Given the description of an element on the screen output the (x, y) to click on. 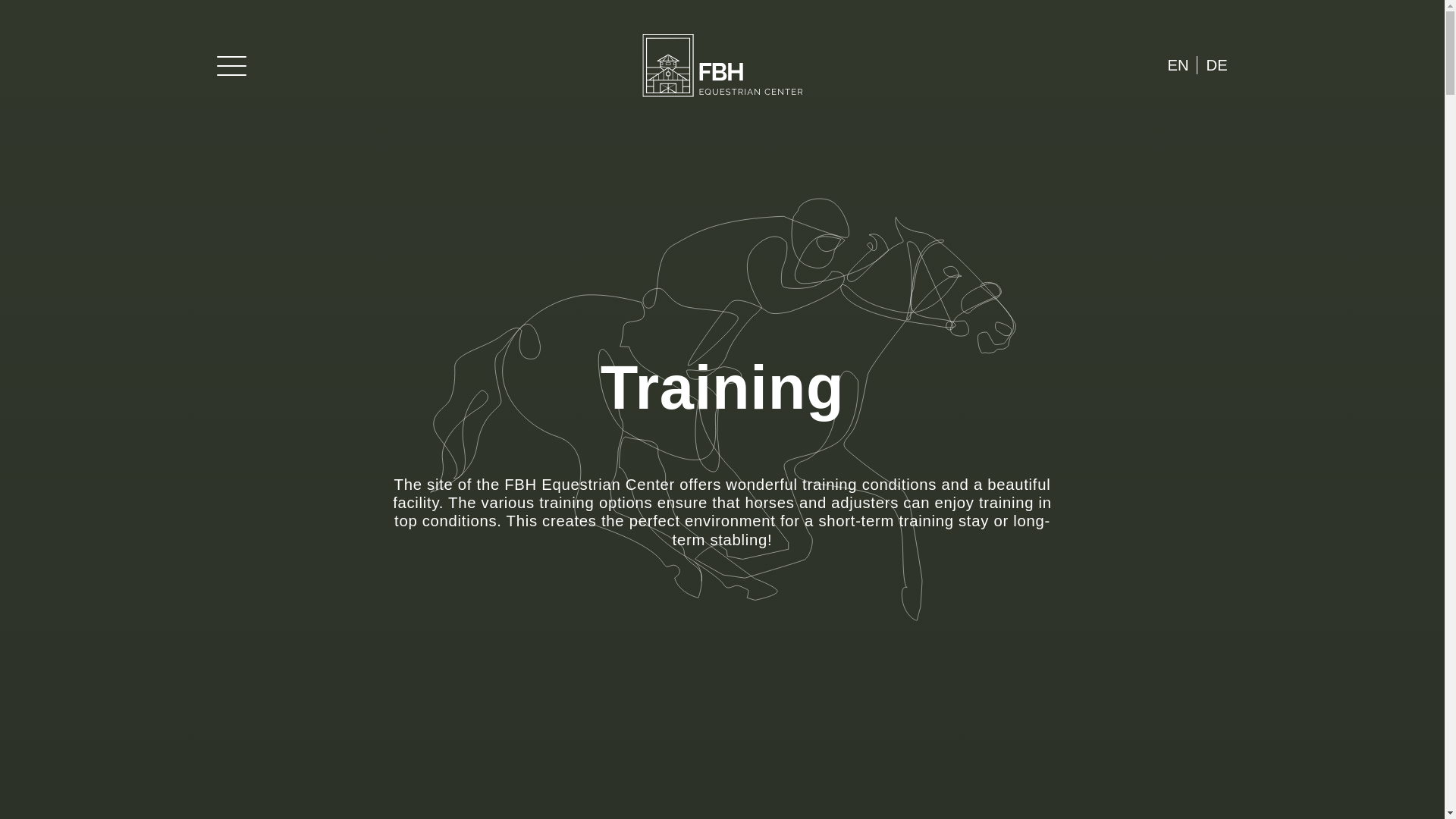
DE Element type: text (1216, 64)
EN Element type: text (1177, 64)
menu Element type: text (231, 65)
